Given the description of an element on the screen output the (x, y) to click on. 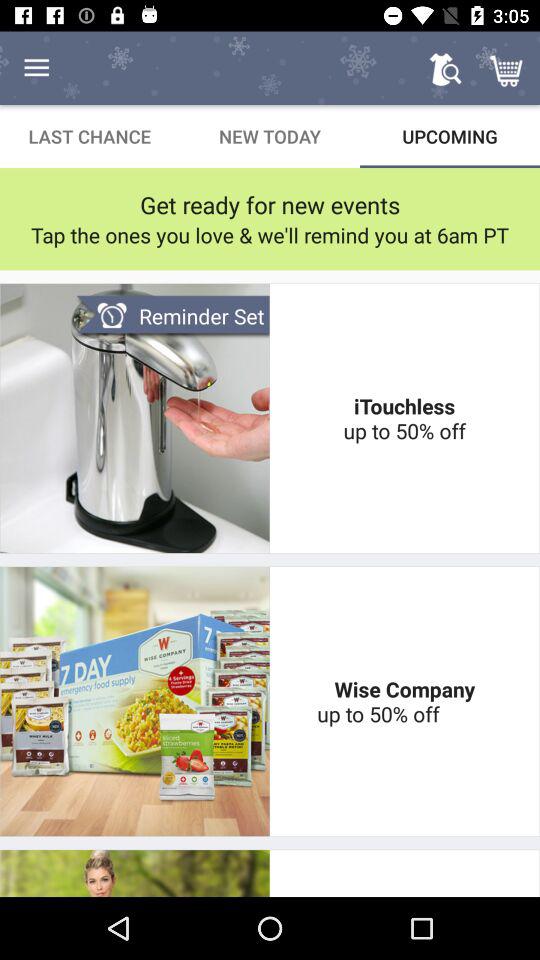
launch itouchless up to (404, 418)
